Given the description of an element on the screen output the (x, y) to click on. 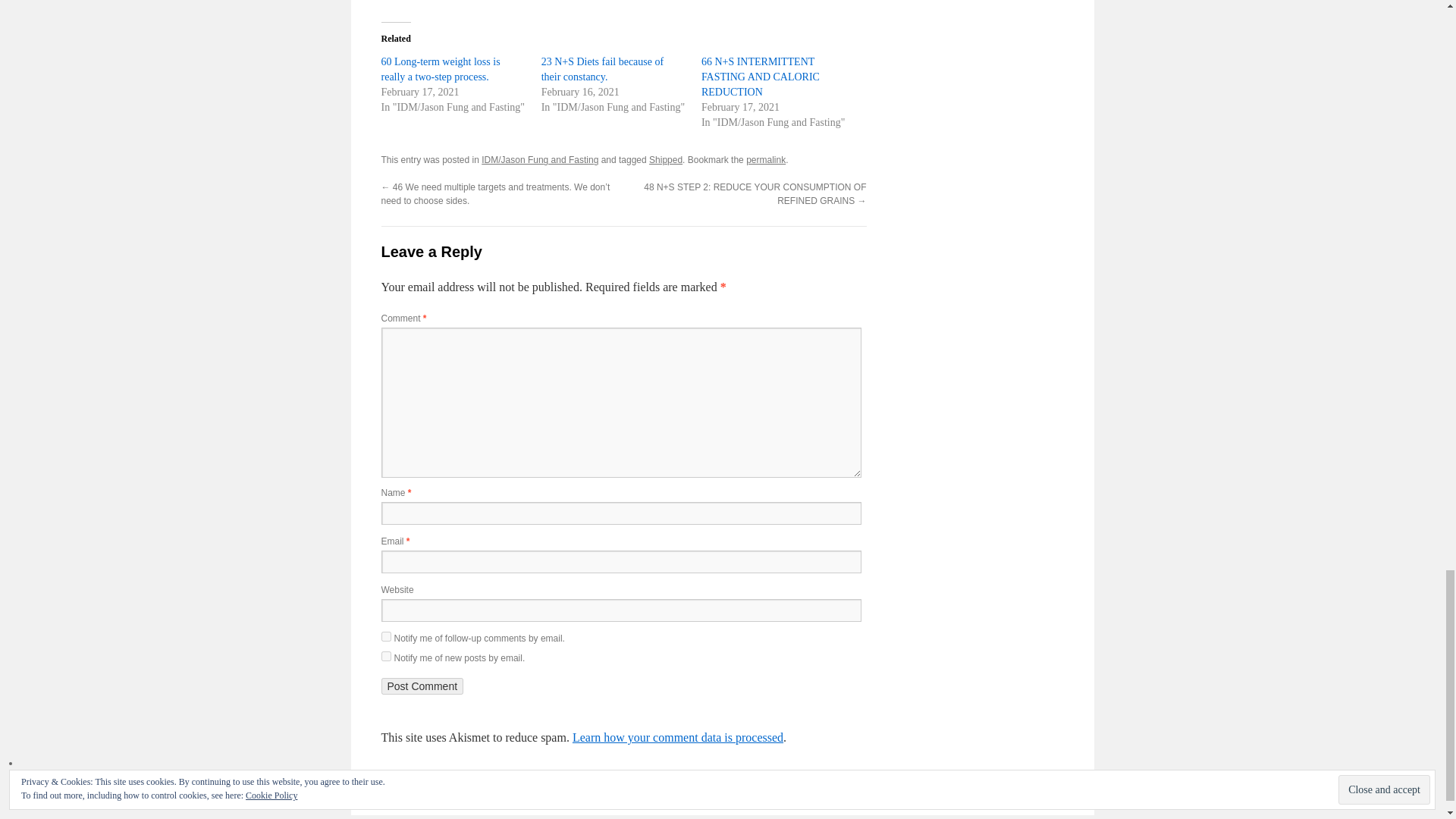
Semantic Personal Publishing Platform (977, 794)
60 Long-term weight loss is really a two-step process. (439, 69)
subscribe (385, 636)
Shipped (665, 159)
Post Comment (421, 686)
Post Comment (421, 686)
subscribe (385, 655)
Learn how your comment data is processed (677, 737)
60 Long-term weight loss is really a two-step process. (439, 69)
